Given the description of an element on the screen output the (x, y) to click on. 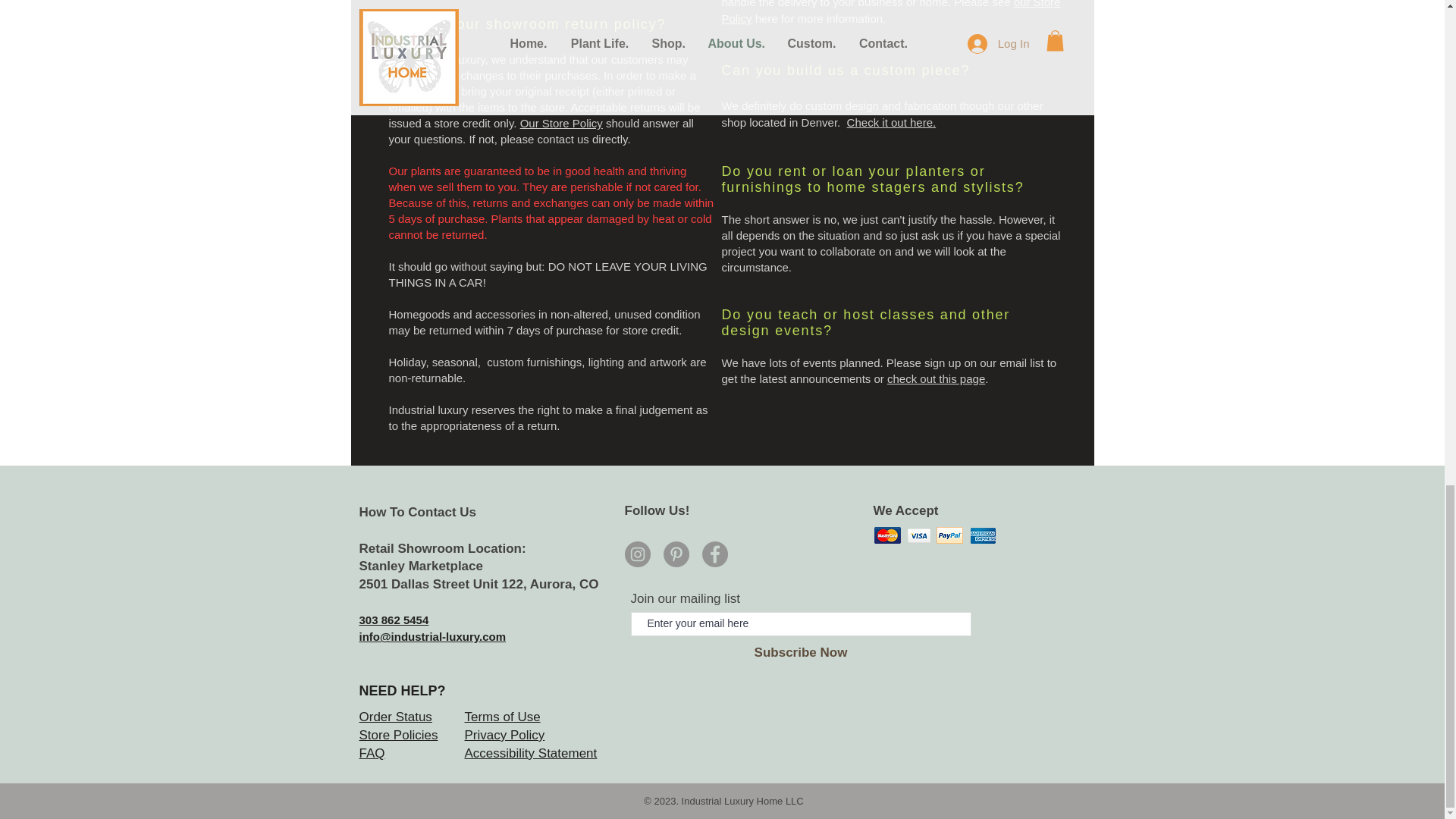
Our Store Policy (560, 123)
our Store Policy (891, 12)
Accessibility Statement (530, 753)
check out this page (935, 377)
FAQ (372, 753)
Subscribe Now (800, 652)
303 862 5454 (394, 619)
Terms of Use (502, 716)
Order Status (395, 716)
Privacy Policy (504, 735)
